Given the description of an element on the screen output the (x, y) to click on. 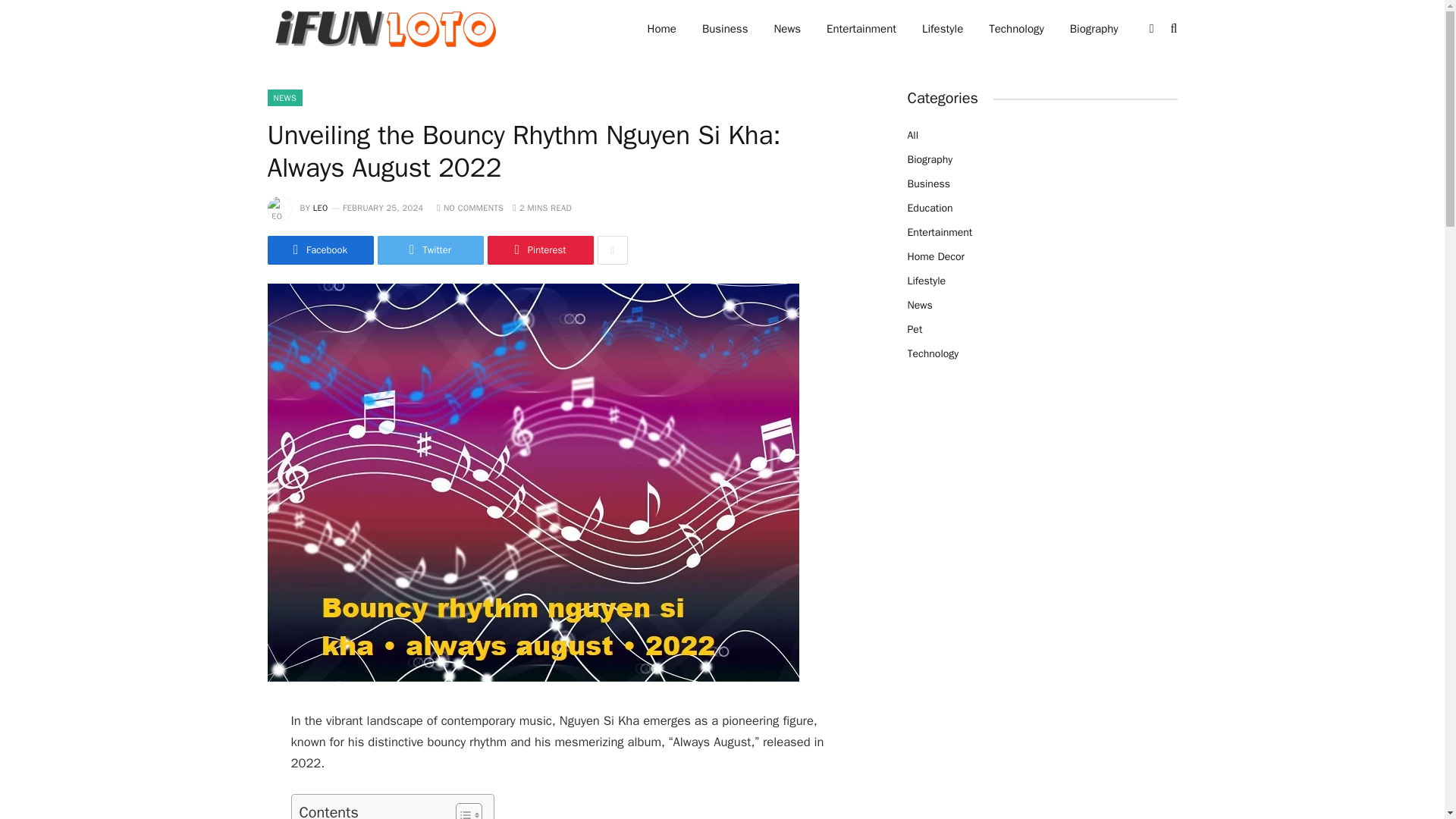
NO COMMENTS (469, 207)
Search (1172, 28)
Pinterest (539, 249)
Lifestyle (941, 28)
NEWS (284, 97)
Share on Facebook (319, 249)
Facebook (319, 249)
Switch to Dark Design - easier on eyes. (1151, 28)
ifunLoto (381, 28)
Business (724, 28)
Share on Pinterest (539, 249)
Posts by Leo (321, 207)
Biography (1094, 28)
Entertainment (860, 28)
Technology (1016, 28)
